Given the description of an element on the screen output the (x, y) to click on. 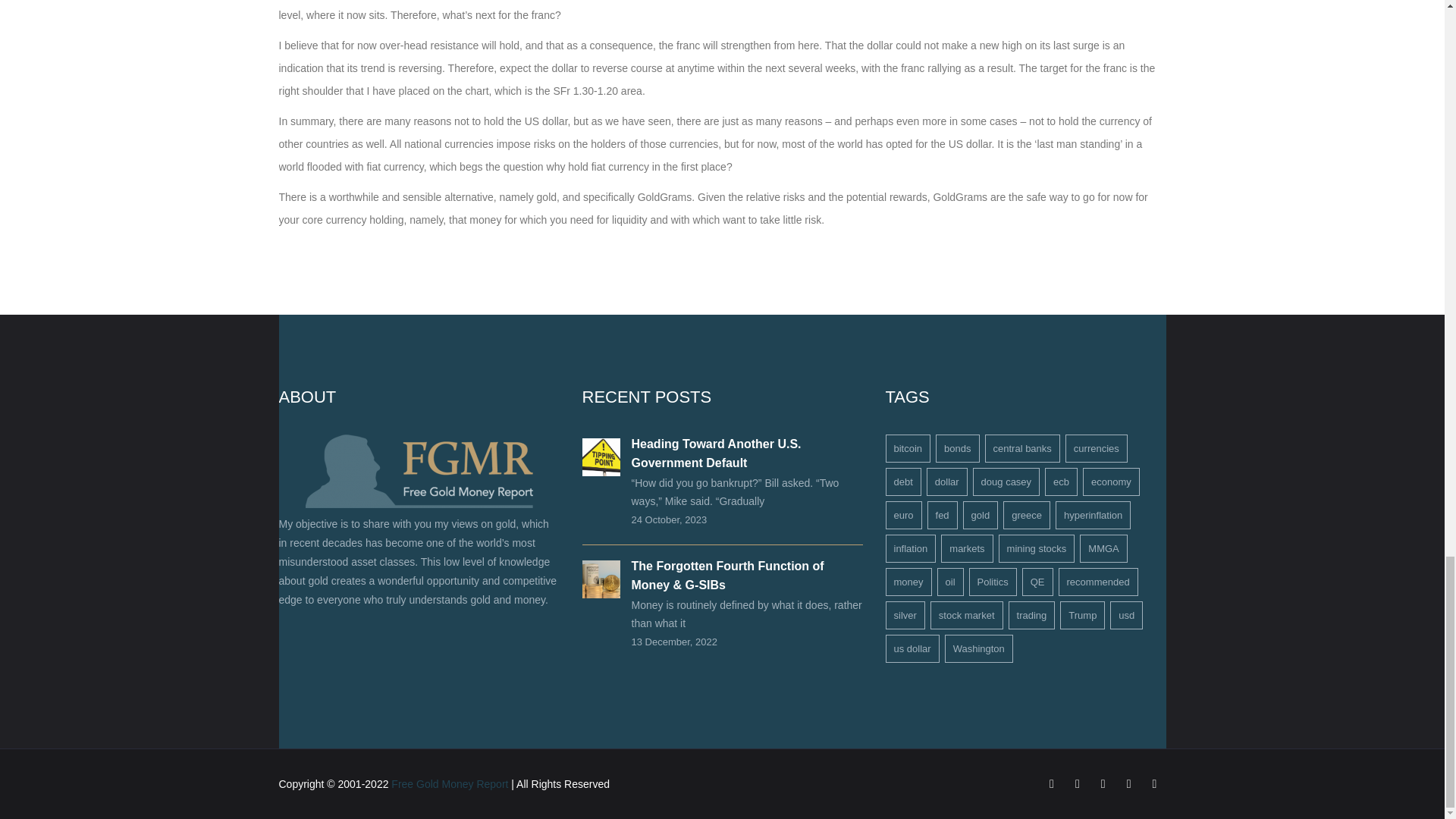
Heading Toward Another U.S. Government Default (715, 453)
money (908, 582)
mining stocks (1036, 548)
inflation (910, 548)
doug casey (1006, 481)
greece (1026, 515)
Politics (992, 582)
fed (942, 515)
currencies (1095, 448)
hyperinflation (1093, 515)
central banks (1021, 448)
recommended (1098, 582)
ecb (1061, 481)
economy (1111, 481)
oil (950, 582)
